Given the description of an element on the screen output the (x, y) to click on. 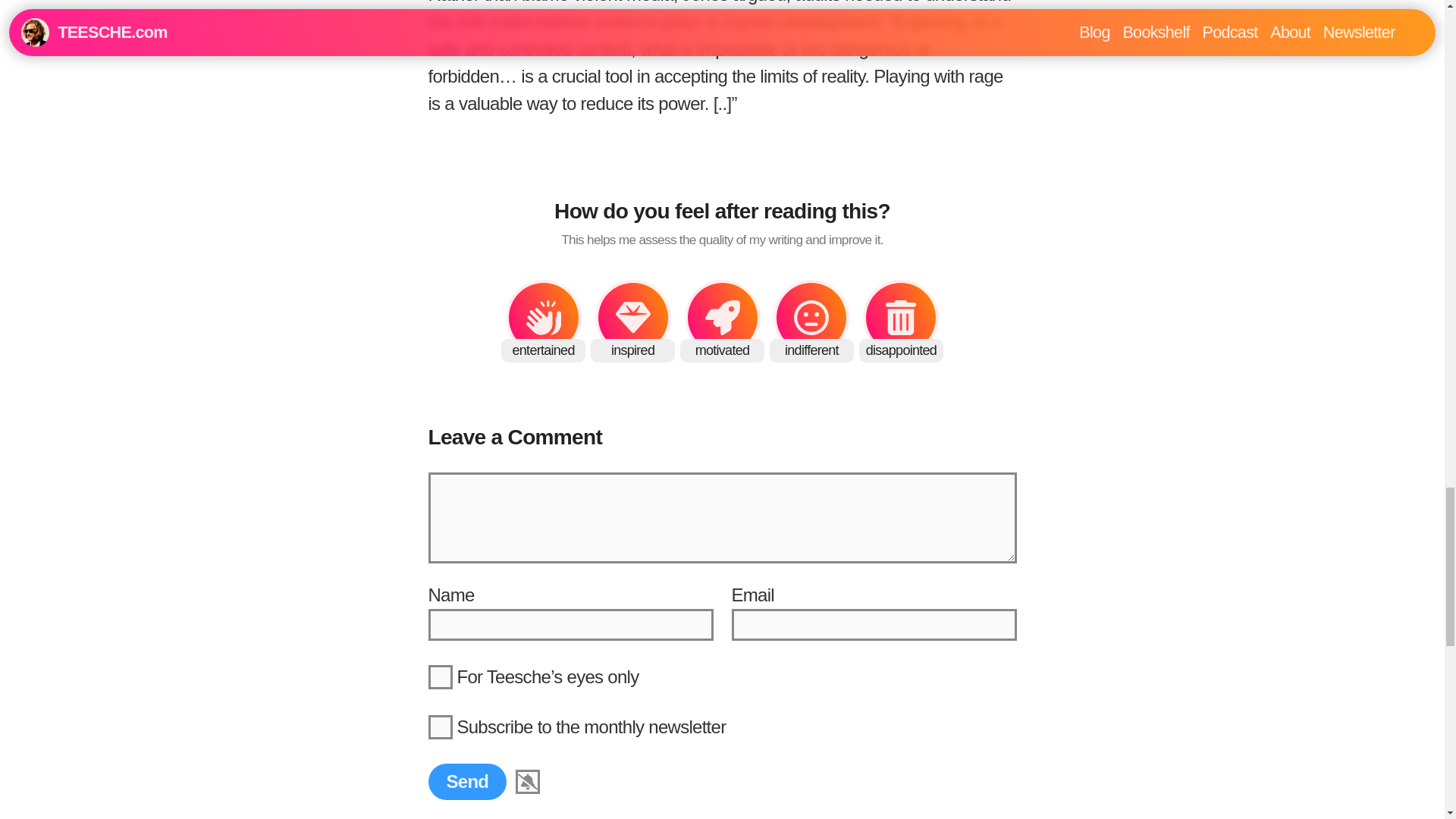
indifferent (810, 317)
entertained (542, 317)
Send (467, 781)
disappointed (901, 317)
motivated (722, 317)
inspired (633, 317)
Send (467, 781)
